Given the description of an element on the screen output the (x, y) to click on. 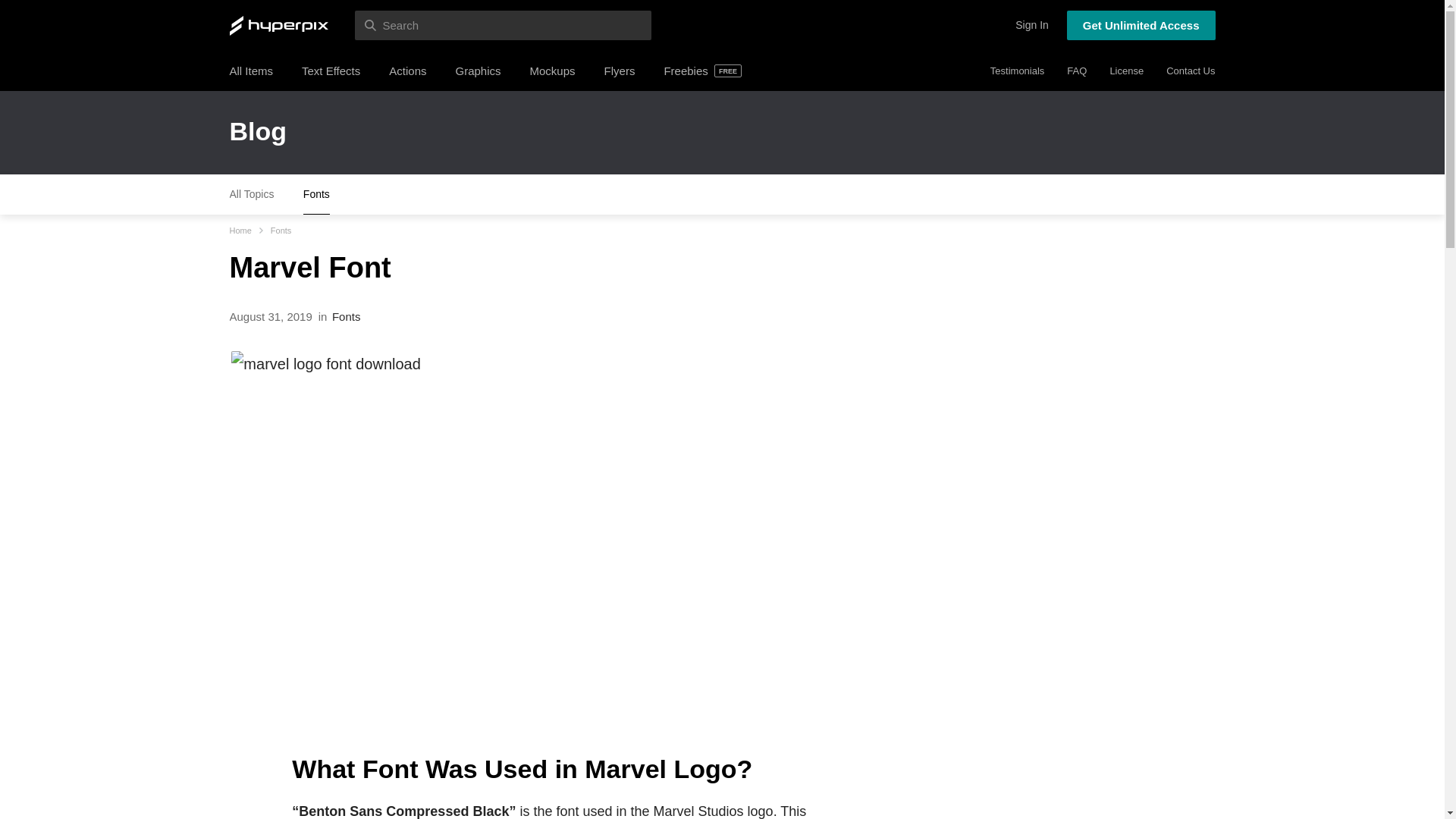
All Items (250, 71)
Freebies FREE (702, 71)
Testimonials (1017, 71)
Graphics (477, 71)
Contact Us (1190, 71)
Get Unlimited Access (1141, 25)
Actions (407, 71)
Mockups (552, 71)
License (1125, 71)
Sign In (1032, 25)
